Given the description of an element on the screen output the (x, y) to click on. 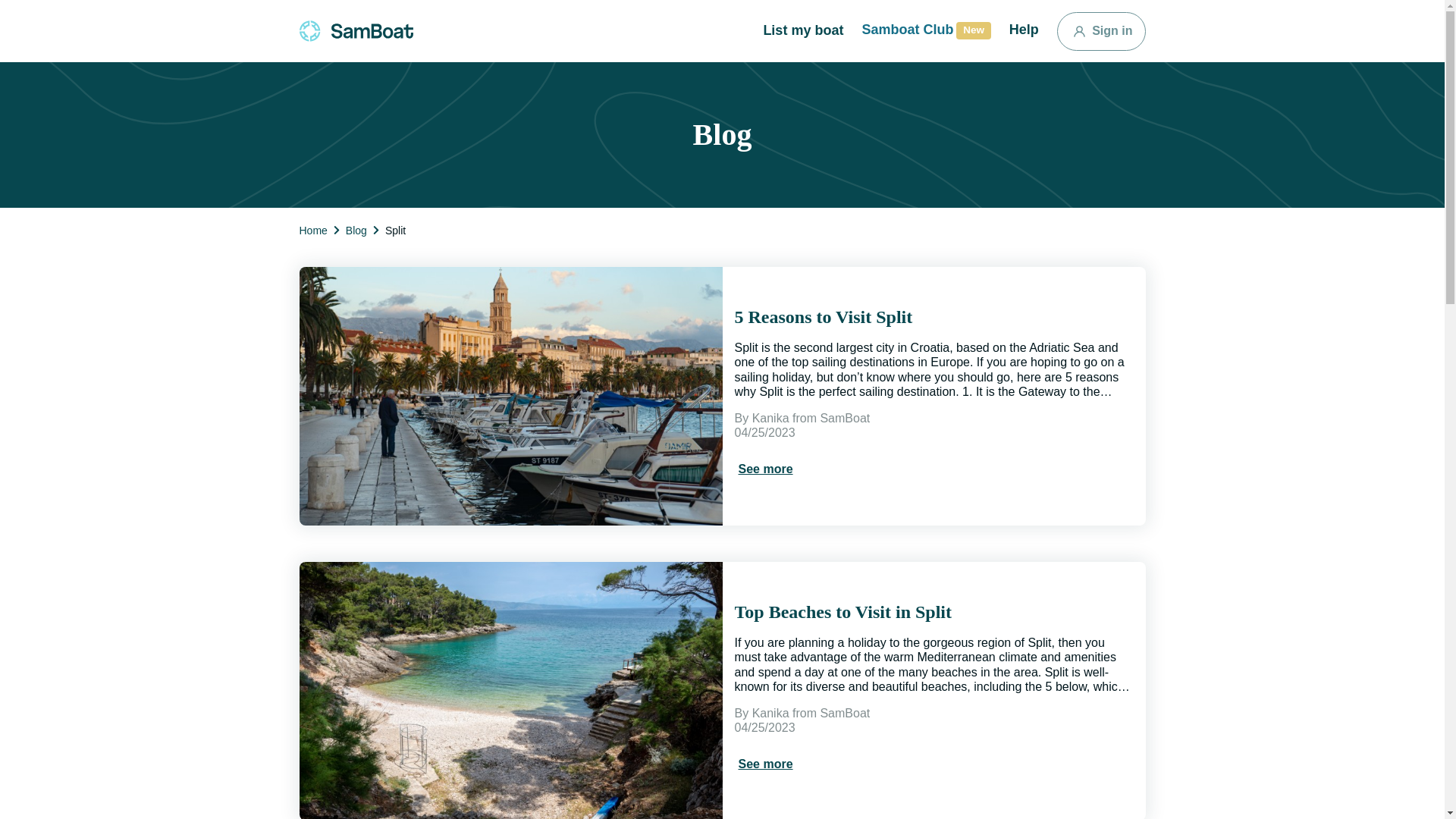
Samboat Club (925, 30)
Top Beaches to Visit in Split (932, 612)
List my boat (802, 30)
Kanika from SamBoat (811, 418)
See more (765, 469)
Home (312, 229)
boat rental (355, 30)
List my boat (925, 30)
Sign in (802, 30)
Kanika from SamBoat (1101, 31)
See more (811, 712)
Blog (765, 763)
Help (356, 229)
Help (1024, 30)
